Given the description of an element on the screen output the (x, y) to click on. 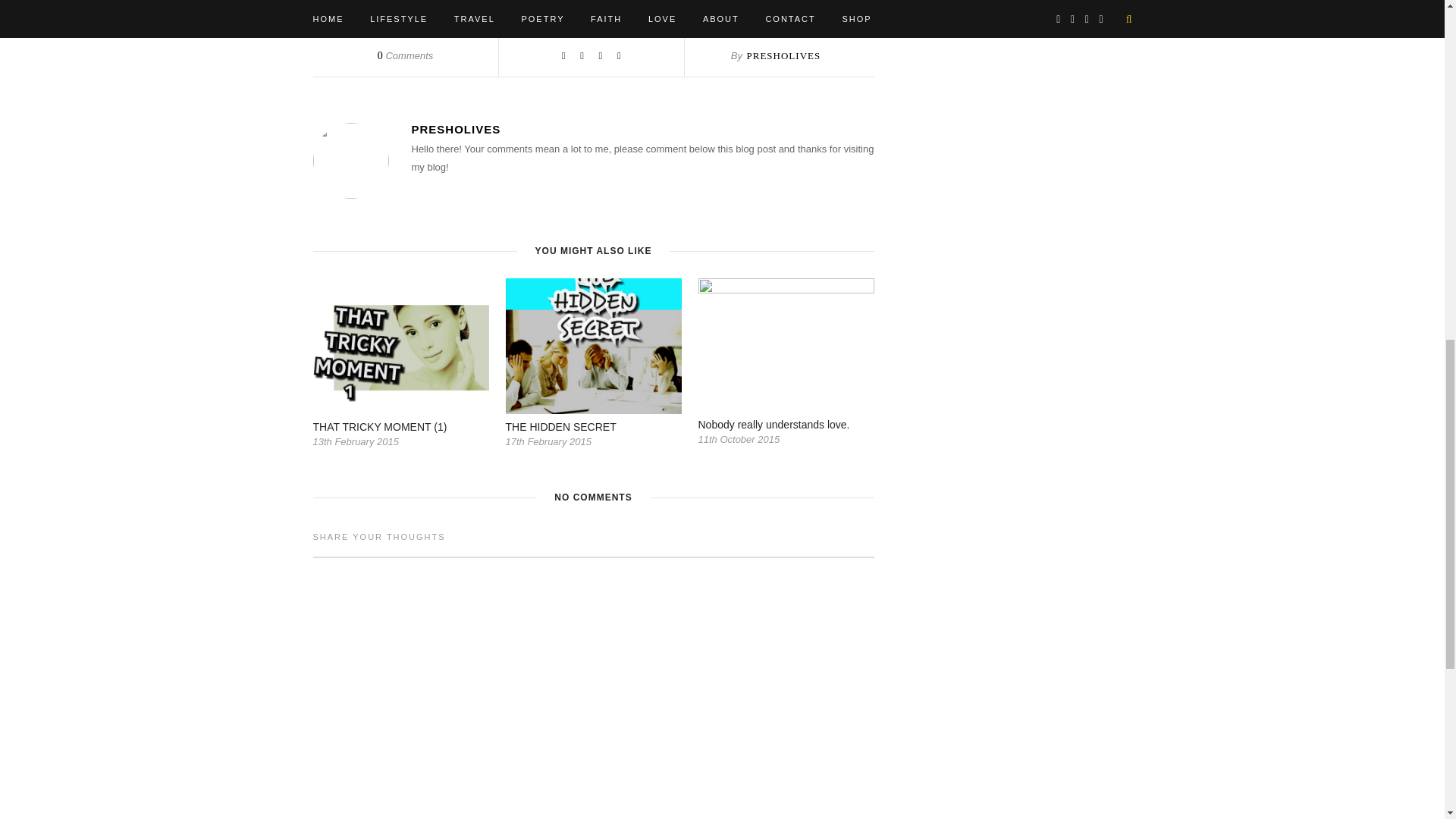
0 Comments (404, 55)
